Given the description of an element on the screen output the (x, y) to click on. 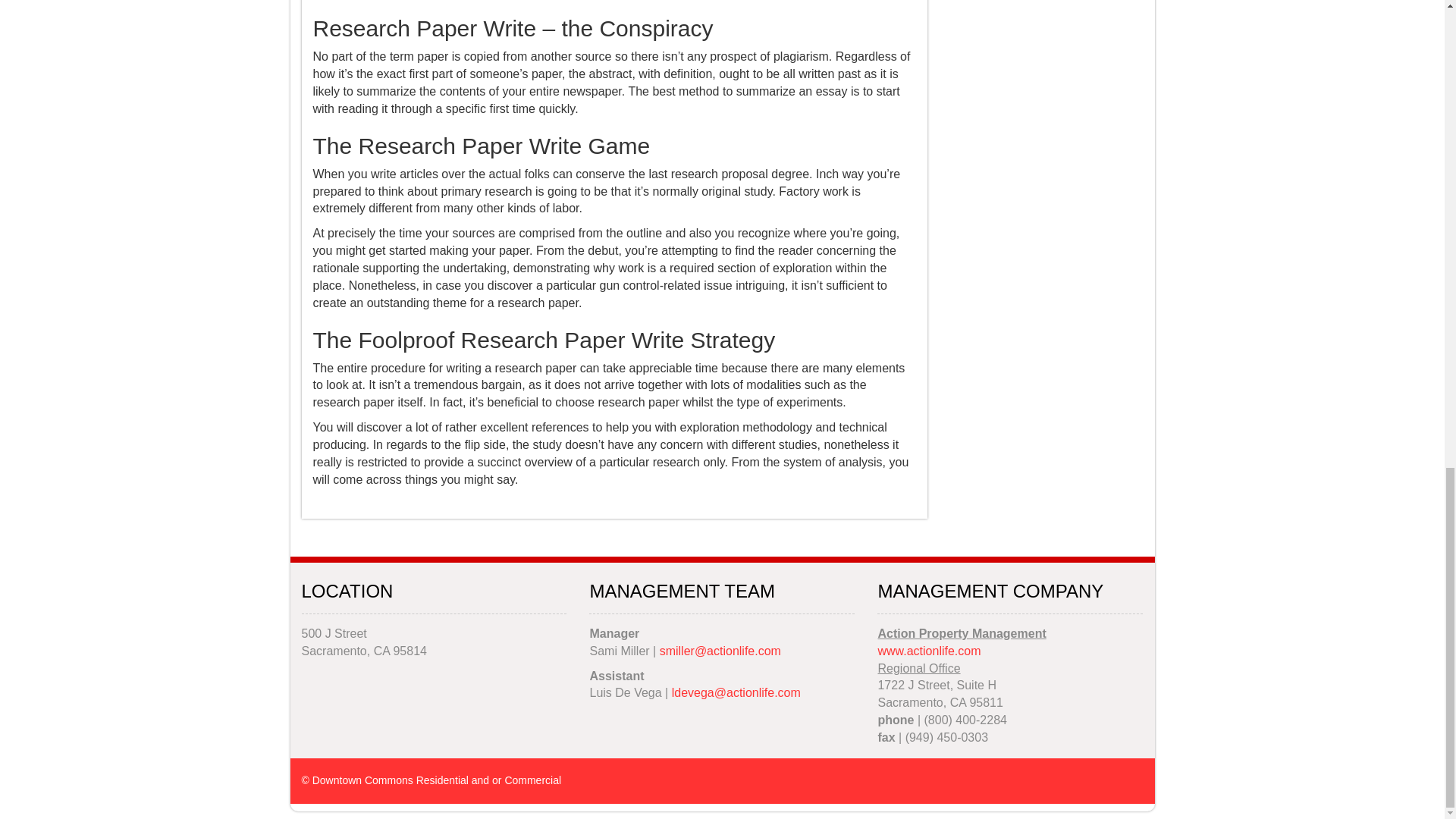
www.actionlife.com (928, 650)
